Given the description of an element on the screen output the (x, y) to click on. 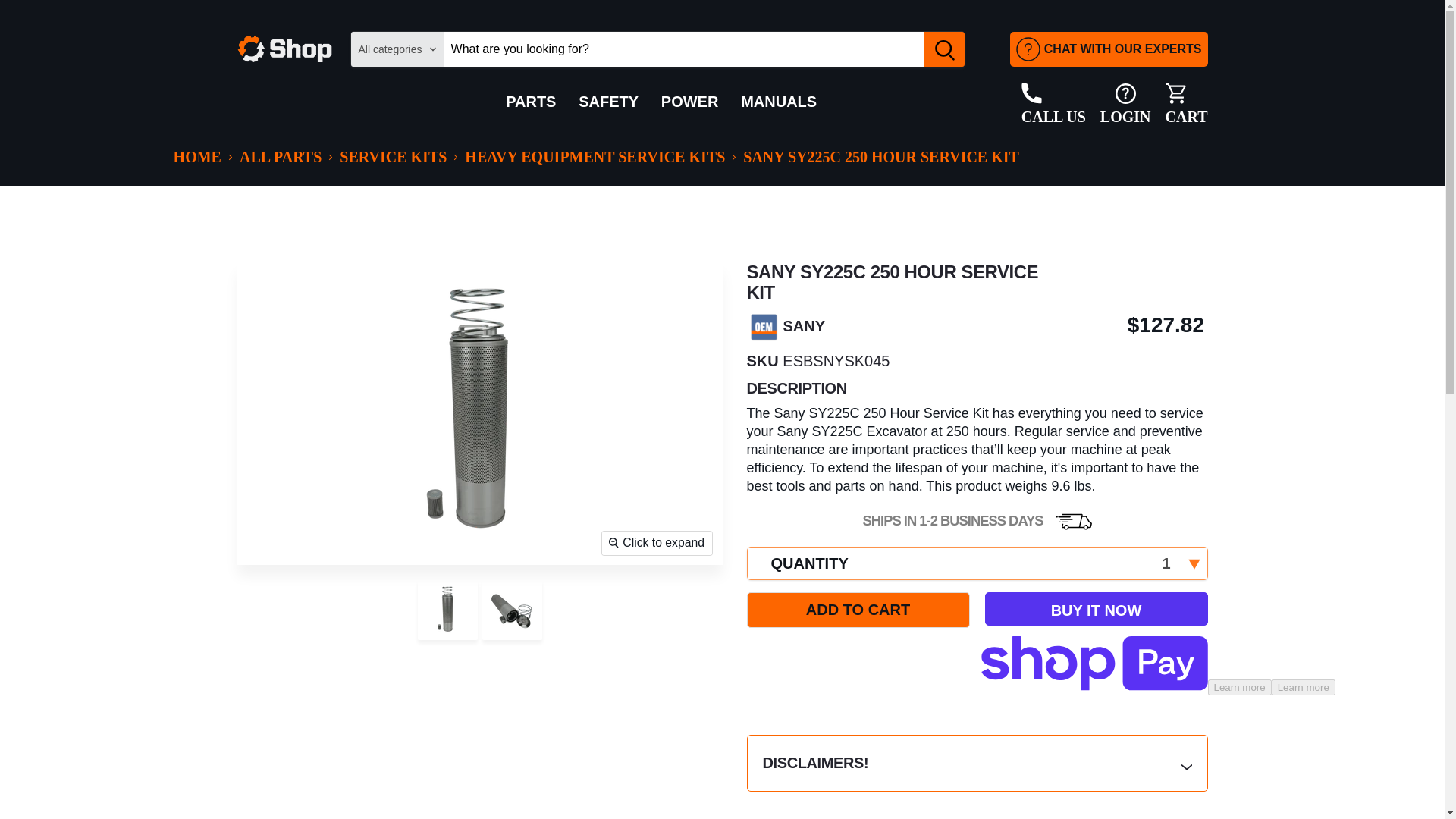
CALL US (1187, 104)
LOGIN (1054, 104)
CHAT WITH OUR EXPERTS (1125, 104)
